Given the description of an element on the screen output the (x, y) to click on. 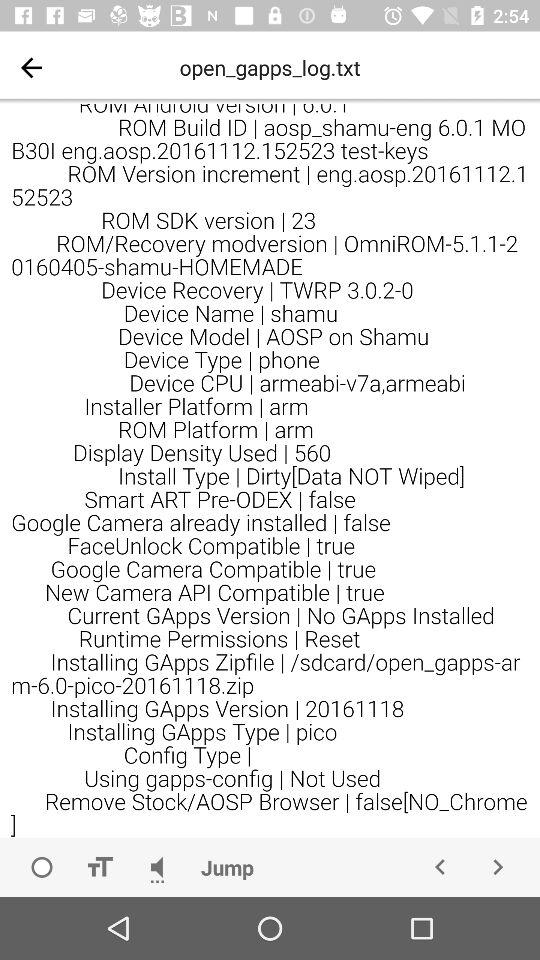
go forward (497, 867)
